Given the description of an element on the screen output the (x, y) to click on. 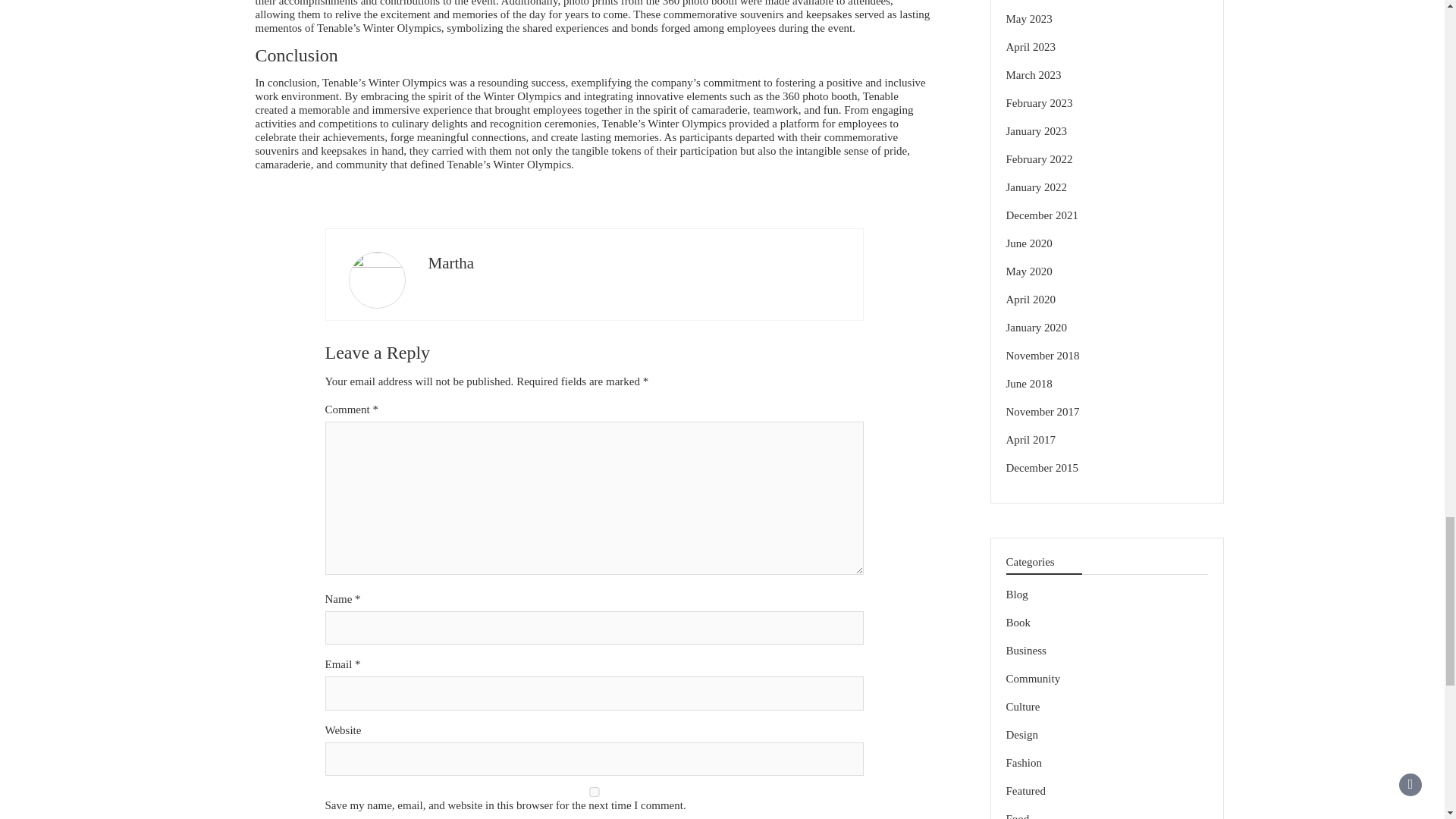
Martha (451, 262)
yes (593, 791)
